Given the description of an element on the screen output the (x, y) to click on. 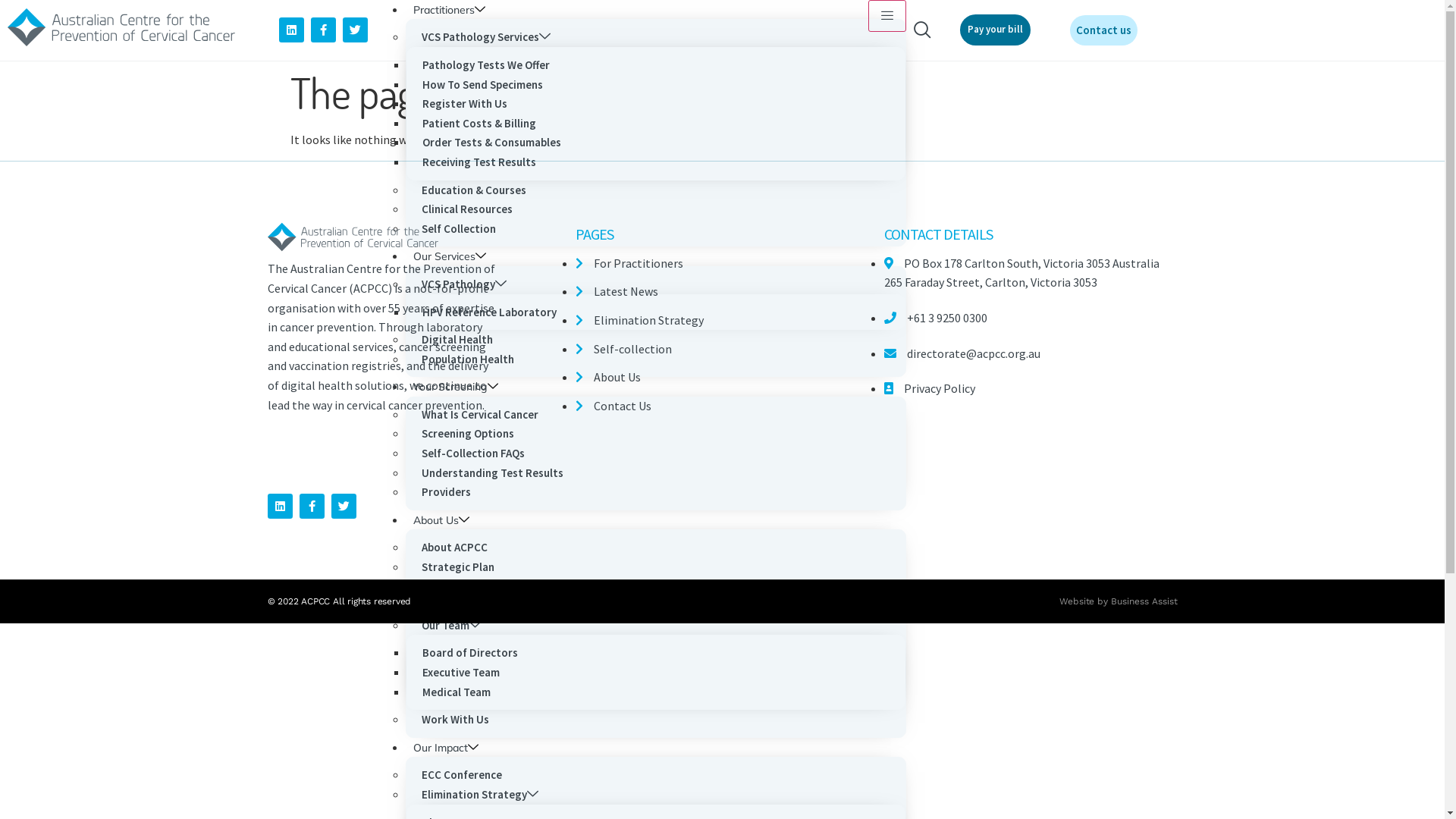
Understanding Test Results Element type: text (492, 472)
Latest News Element type: text (616, 290)
Board of Directors Element type: text (470, 652)
How To Send Specimens Element type: text (482, 84)
HPV Reference Laboratory Element type: text (489, 311)
Receiving Test Results Element type: text (479, 161)
VCS Pathology Services Element type: text (485, 36)
Contact us Element type: text (1103, 30)
Digital Health Element type: text (457, 339)
History Element type: text (440, 605)
Order Tests & Consumables Element type: text (491, 141)
What Is Cervical Cancer Element type: text (479, 414)
Elimination Strategy Element type: text (479, 794)
Providers Element type: text (446, 491)
Medical Team Element type: text (456, 691)
Strategic Plan Element type: text (457, 566)
Population Health Element type: text (467, 358)
About Us Element type: text (440, 520)
Annual Reports Element type: text (459, 586)
Patient Costs & Billing Element type: text (479, 122)
Our Services Element type: text (449, 256)
Our Impact Element type: text (445, 747)
For Practitioners Element type: text (629, 262)
About ACPCC Element type: text (454, 546)
Contact Us Element type: text (613, 405)
Self Collection Element type: text (458, 228)
Register With Us Element type: text (464, 103)
Pathology Tests We Offer Element type: text (485, 64)
About Us Element type: text (607, 376)
ECC Conference Element type: text (461, 774)
Self-collection Element type: text (623, 348)
Our Team Element type: text (450, 624)
Education & Courses Element type: text (473, 189)
Business Assist Element type: text (1143, 601)
VCS Pathology Element type: text (463, 283)
Elimination Strategy Element type: text (639, 319)
Clinical Resources Element type: text (466, 208)
directorate@acpcc.org.au Element type: text (962, 352)
Self-Collection FAQs Element type: text (472, 452)
Work With Us Element type: text (455, 718)
Pay your bill Element type: text (995, 29)
+61 3 9250 0300 Element type: text (935, 317)
Privacy Policy Element type: text (929, 387)
Executive Team Element type: text (460, 671)
Screening Options Element type: text (467, 433)
Your Screening Element type: text (455, 386)
Practitioners Element type: text (448, 9)
